Given the description of an element on the screen output the (x, y) to click on. 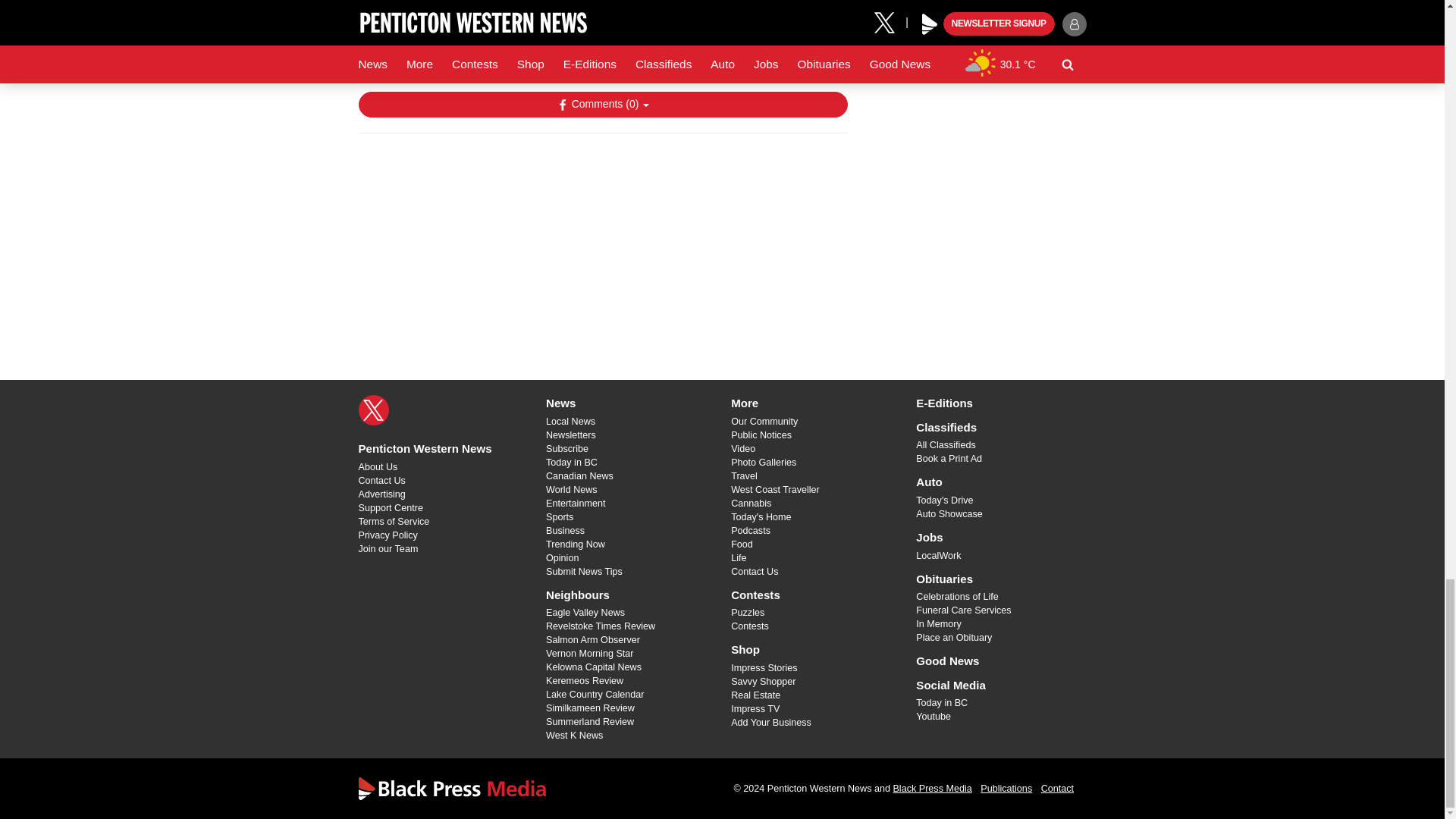
3rd party ad content (602, 243)
X (373, 409)
Show Comments (602, 104)
